Given the description of an element on the screen output the (x, y) to click on. 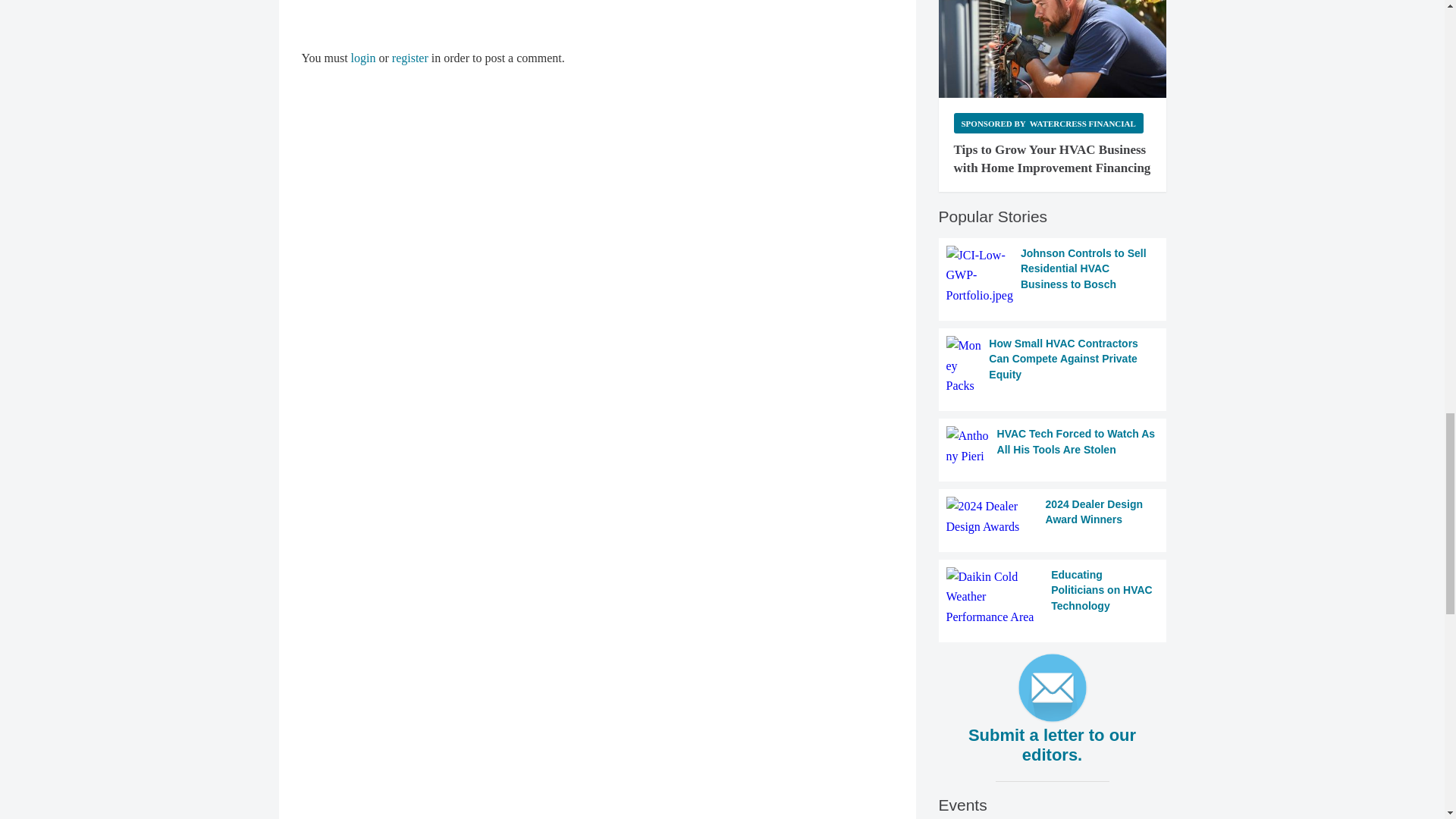
Sponsored by Watercress Financial (1047, 123)
2024 Dealer Design Award Winners (1052, 516)
Educating Politicians on HVAC Technology (1052, 597)
Technician Working on HVAC Unit (1052, 48)
Johnson Controls to Sell Residential HVAC Business to Bosch (1052, 275)
HVAC Tech Forced to Watch As All His Tools Are Stolen (1052, 445)
